Given the description of an element on the screen output the (x, y) to click on. 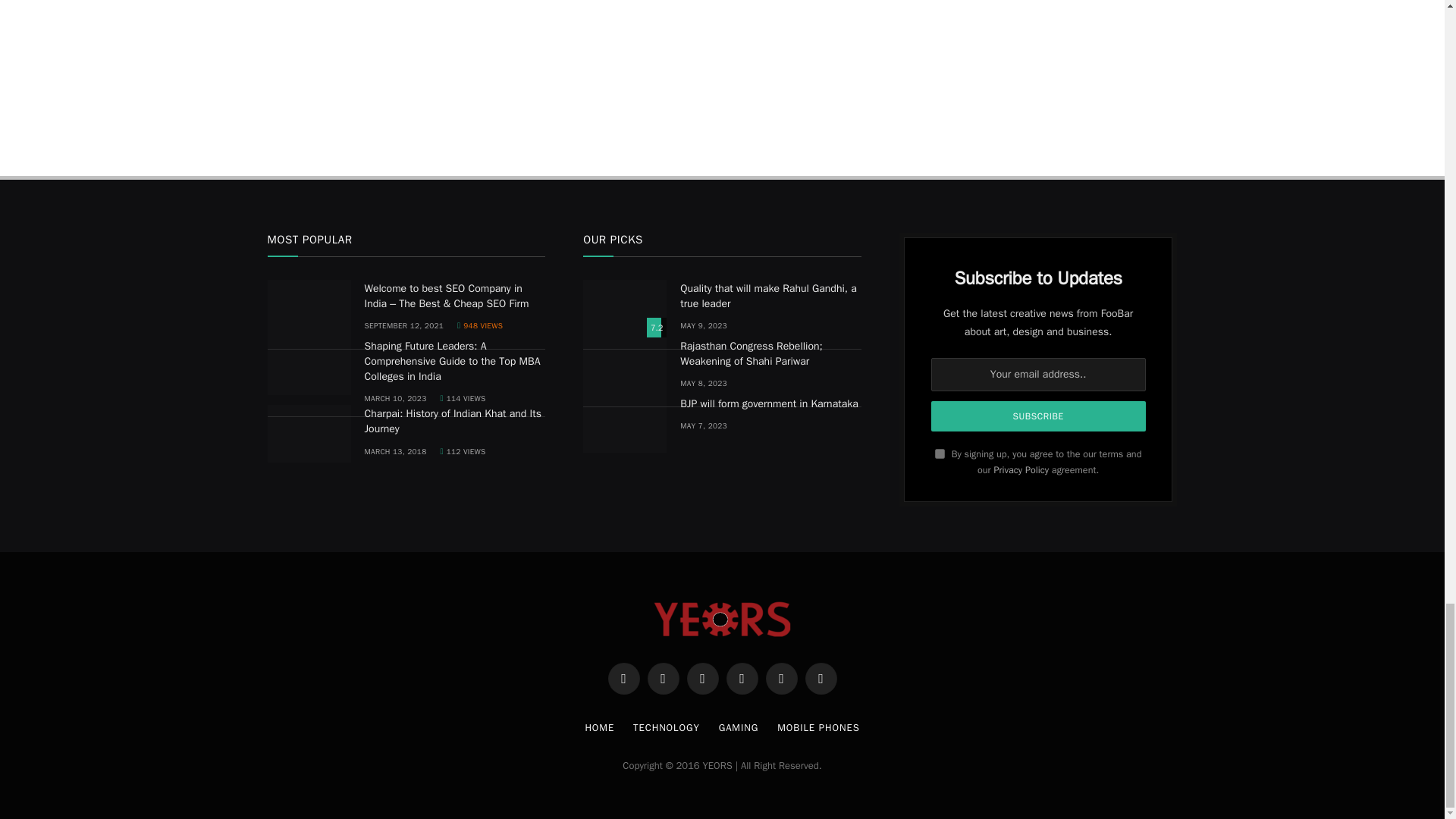
on (939, 453)
Subscribe (1038, 416)
